Given the description of an element on the screen output the (x, y) to click on. 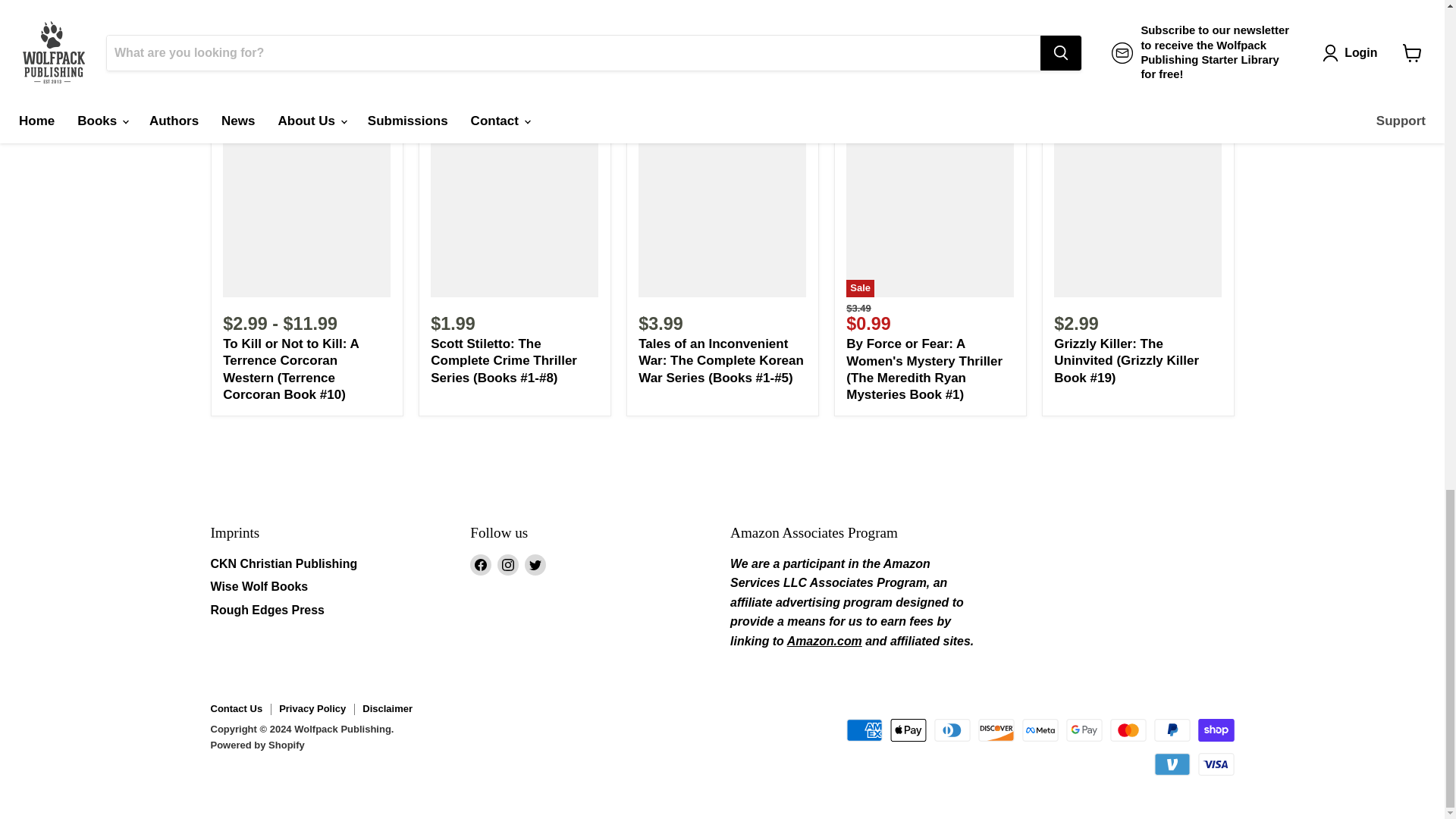
Facebook (481, 564)
Instagram (507, 564)
Apple Pay (907, 730)
American Express (863, 730)
Diners Club (952, 730)
Discover (996, 730)
Twitter (535, 564)
Meta Pay (1040, 730)
